Given the description of an element on the screen output the (x, y) to click on. 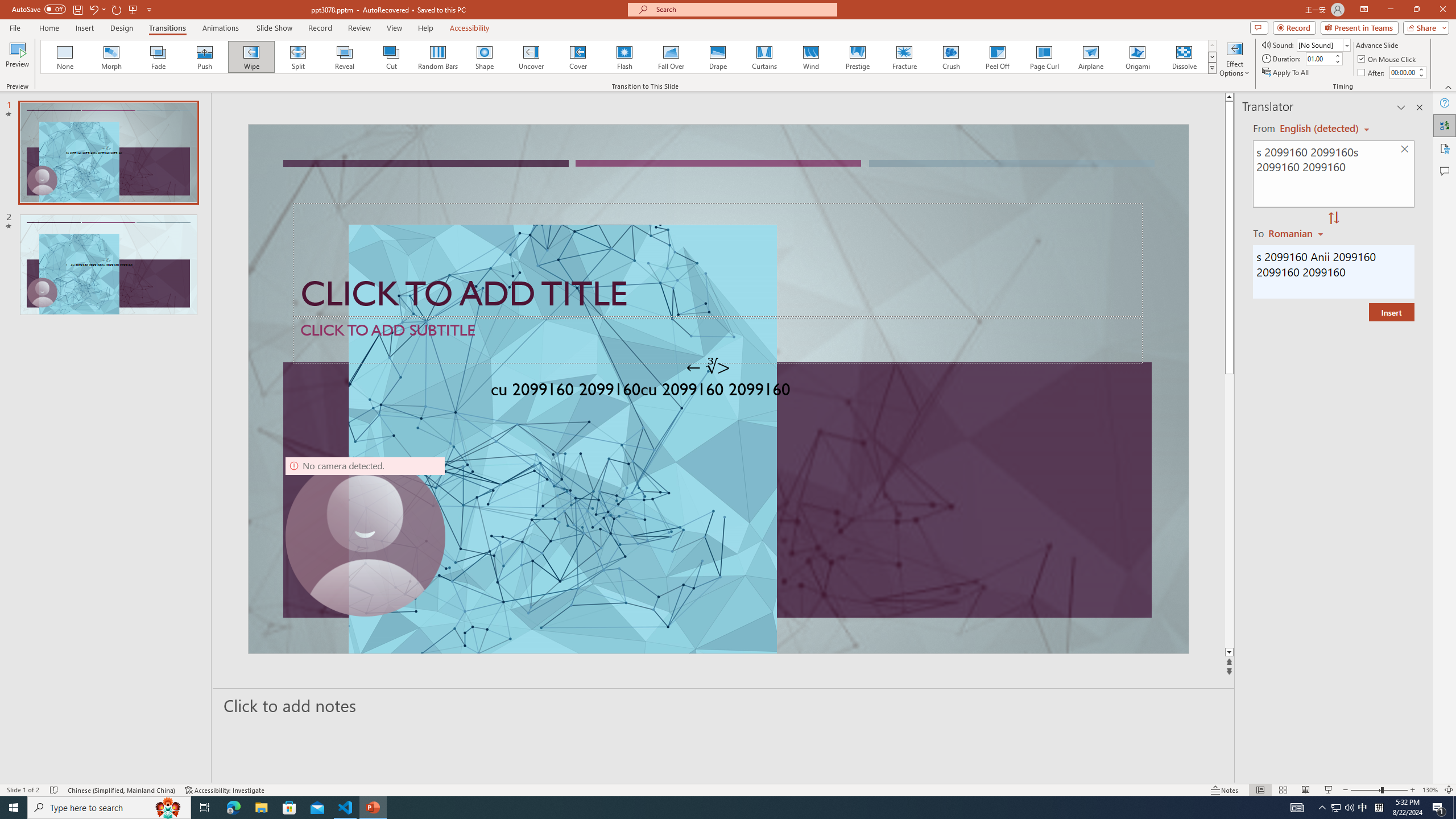
Fall Over (670, 56)
Apply To All (1286, 72)
Morph (111, 56)
Flash (624, 56)
Origami (1136, 56)
